Given the description of an element on the screen output the (x, y) to click on. 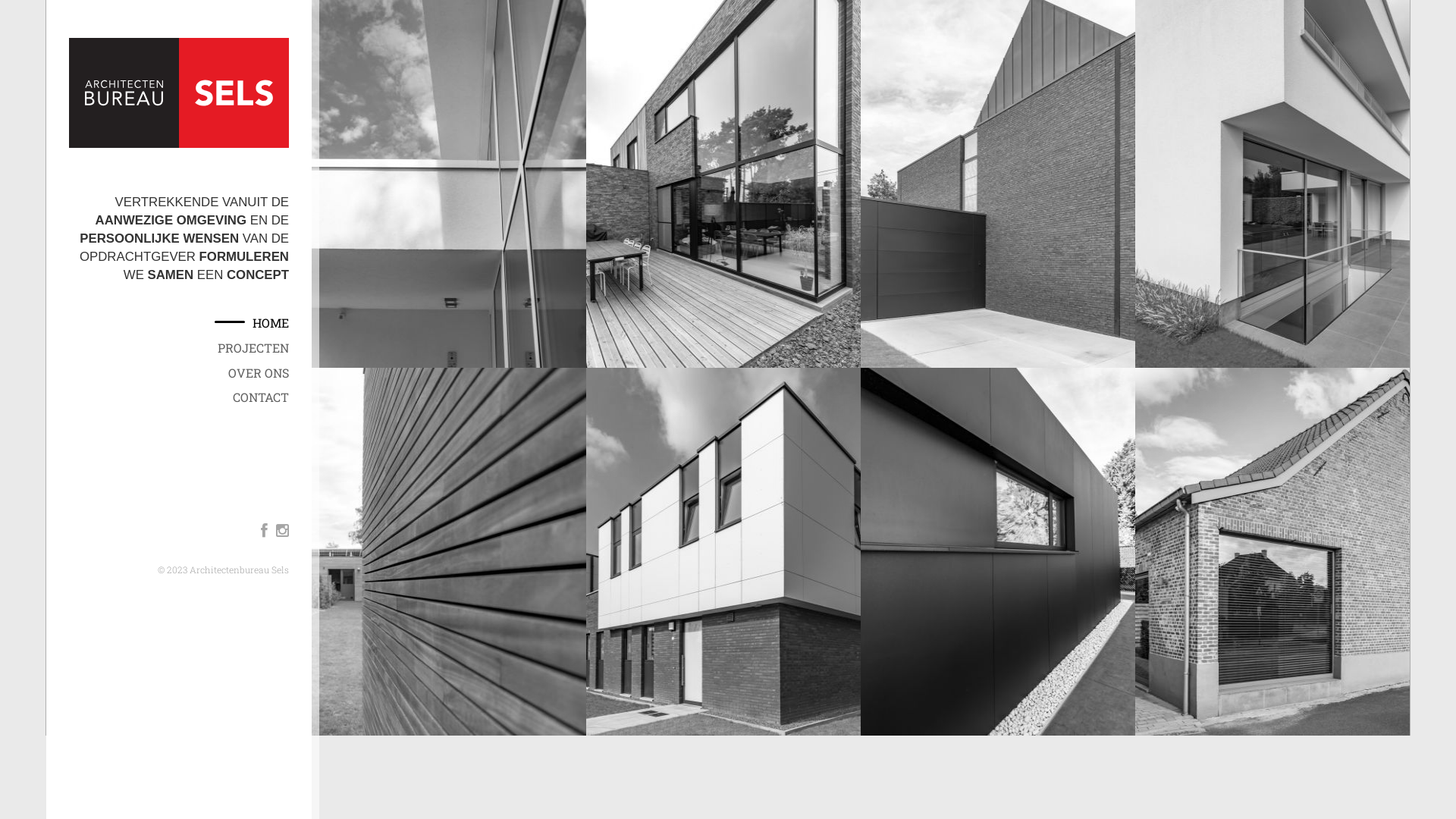
OVER ONS Element type: text (269, 373)
CONTACT Element type: text (271, 397)
HOME Element type: text (281, 323)
PROJECTEN Element type: text (264, 348)
OPENBAAR Element type: text (379, 381)
ANDERE Element type: text (379, 409)
WONEN Element type: text (379, 353)
